Given the description of an element on the screen output the (x, y) to click on. 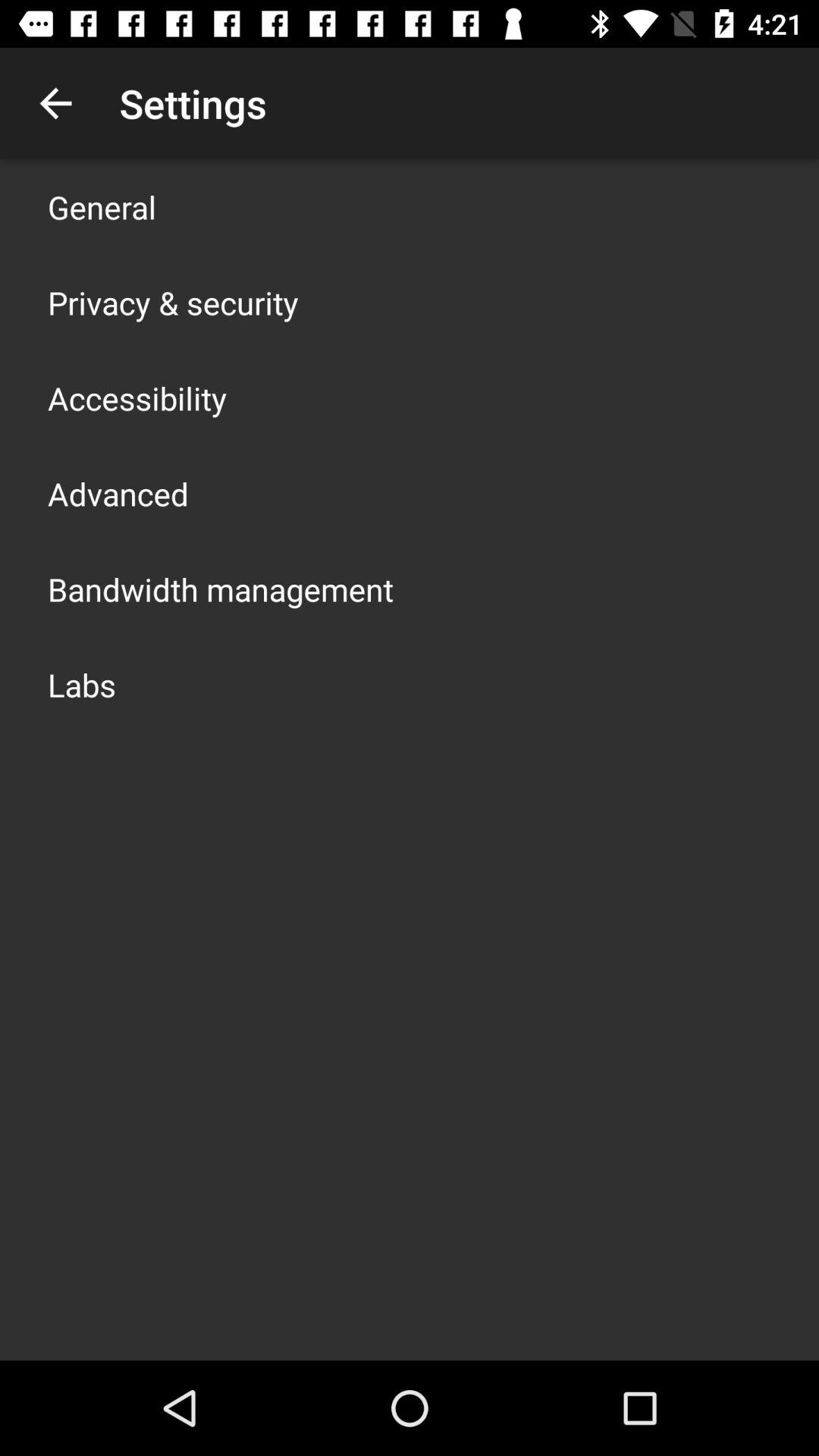
select item below bandwidth management app (81, 684)
